Given the description of an element on the screen output the (x, y) to click on. 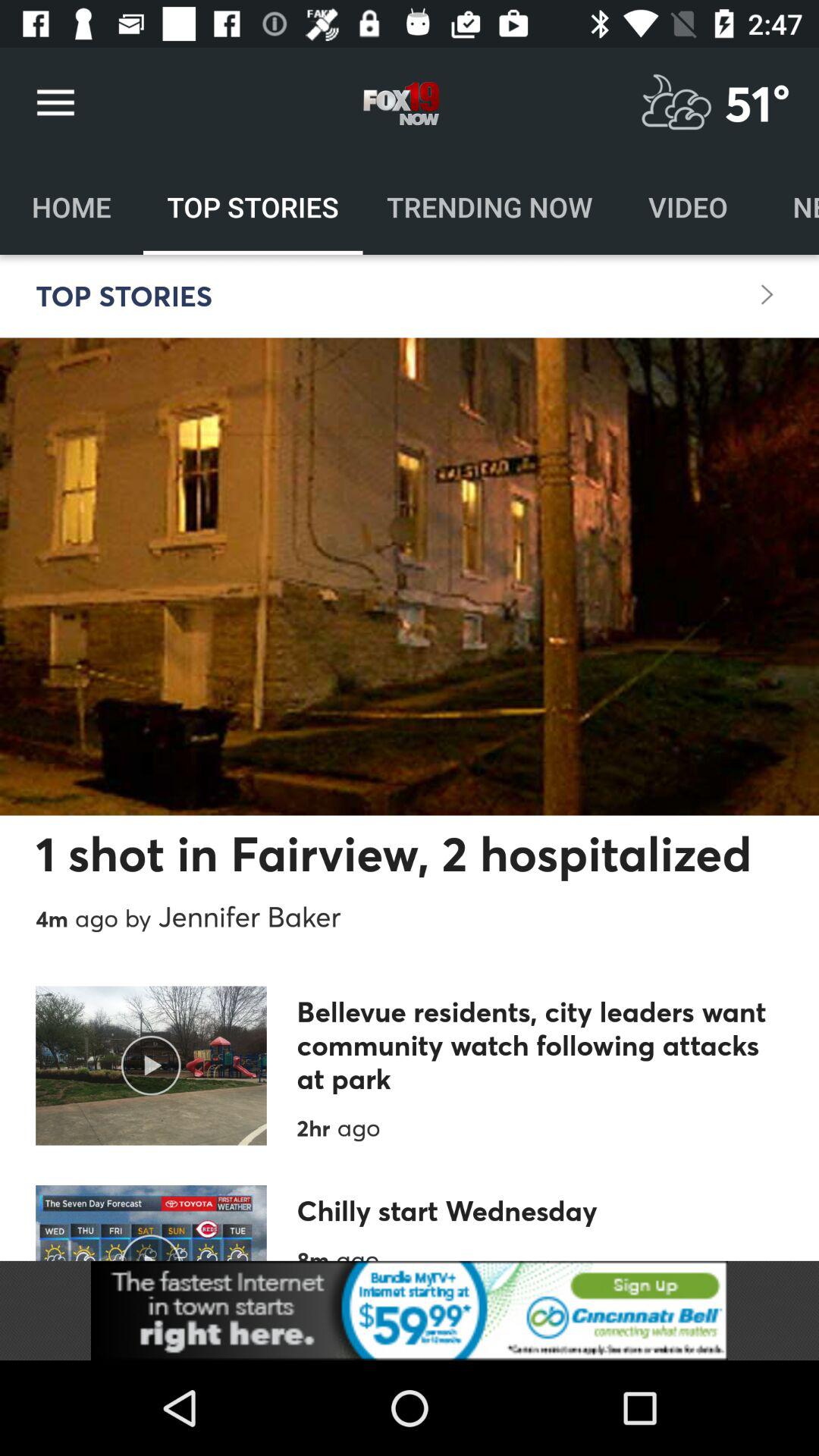
web page (409, 1310)
